Given the description of an element on the screen output the (x, y) to click on. 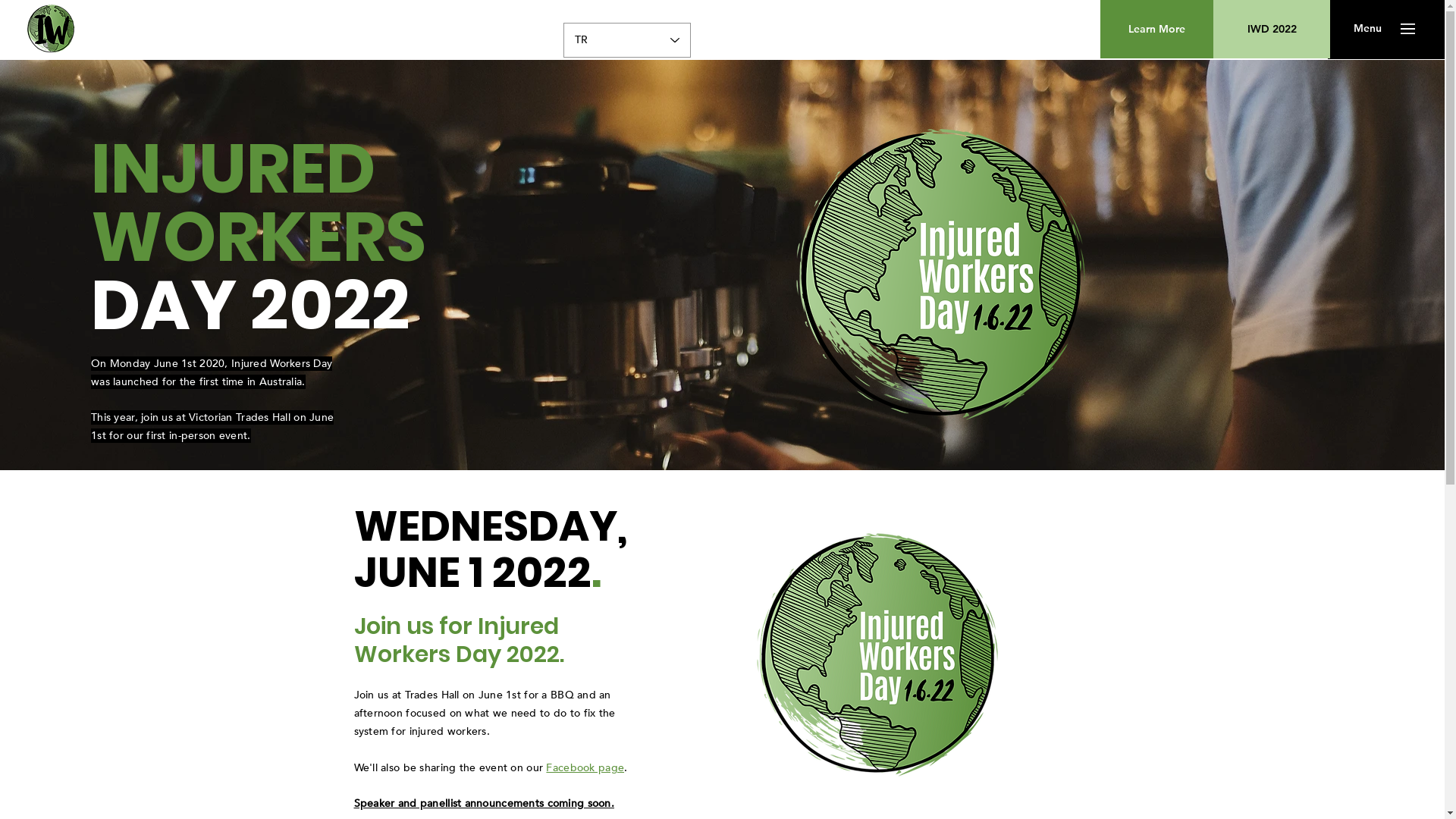
Facebook page Element type: text (585, 767)
. Element type: text (625, 767)
Learn More Element type: text (1156, 29)
Menu Element type: text (1367, 28)
IWD 2022 Element type: text (1271, 29)
